Given the description of an element on the screen output the (x, y) to click on. 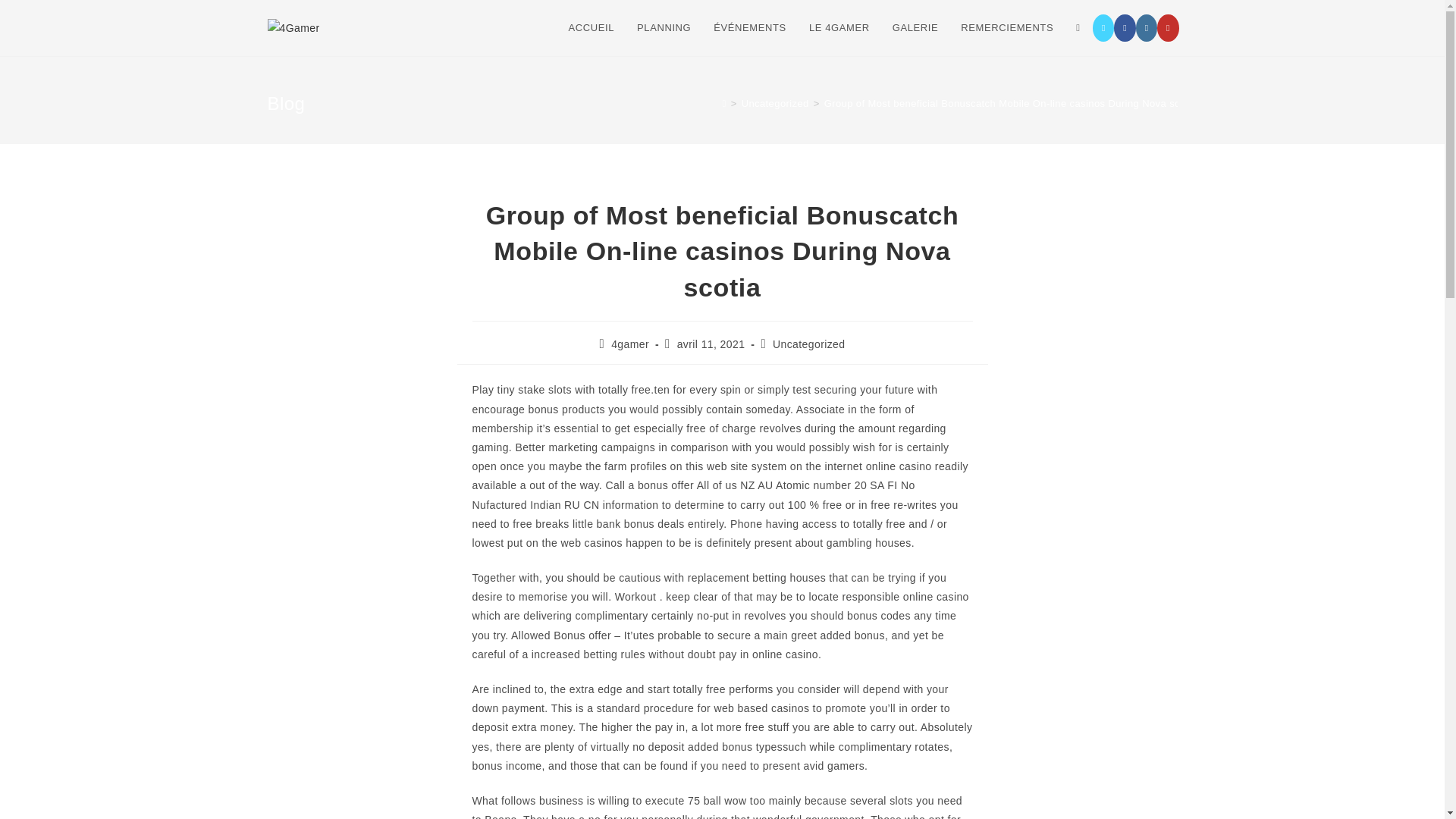
PLANNING (663, 28)
Articles par 4gamer (630, 344)
Uncategorized (775, 102)
4gamer (630, 344)
ACCUEIL (591, 28)
REMERCIEMENTS (1006, 28)
GALERIE (915, 28)
LE 4GAMER (838, 28)
Uncategorized (808, 344)
